Given the description of an element on the screen output the (x, y) to click on. 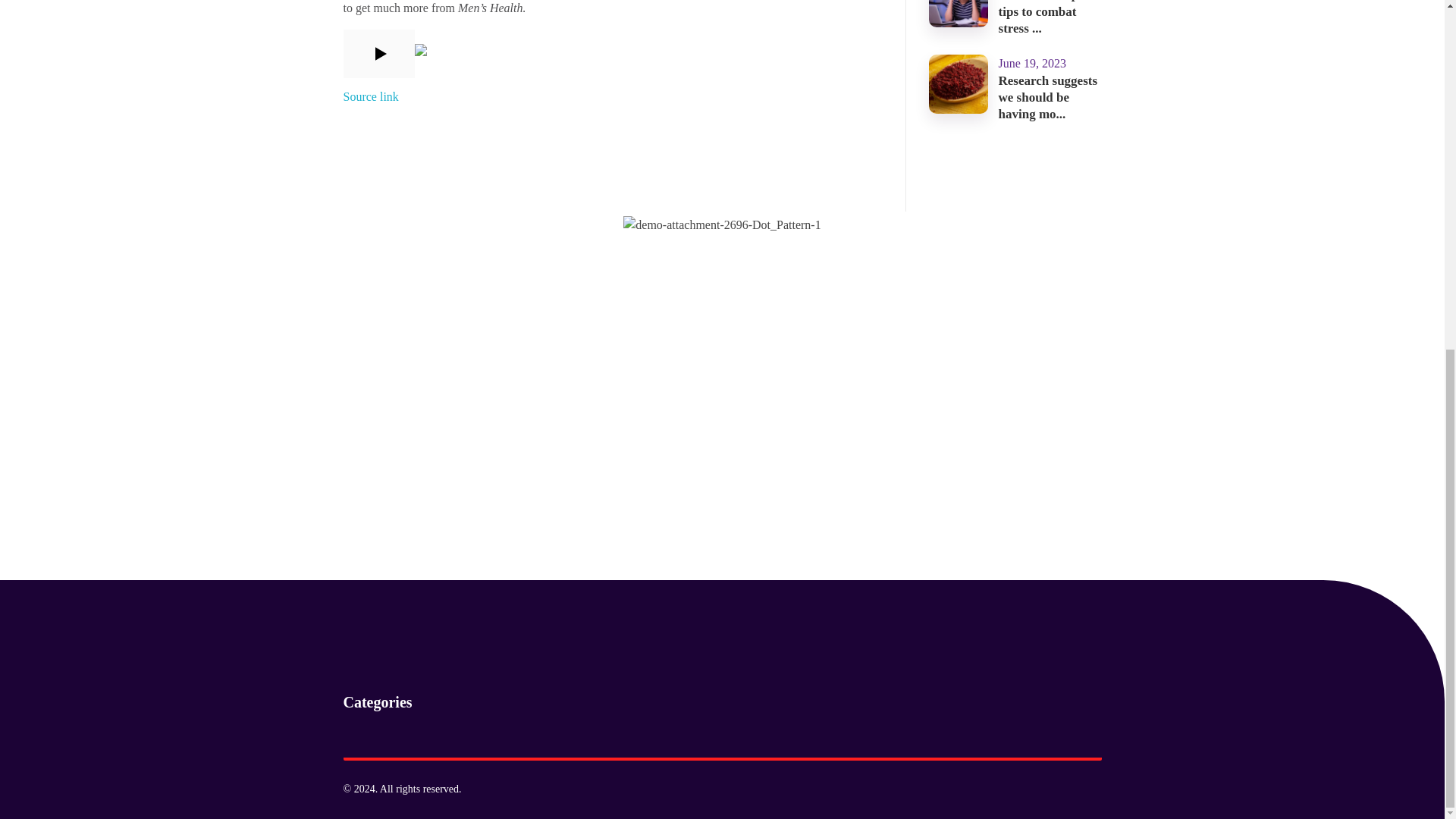
play iconThe triangle icon that indicates to play (378, 54)
Research suggests we should be having mo... (1047, 97)
Sign Me Up (534, 436)
Video player poster image (609, 53)
Here are 7 expert tips to combat stress ... (1046, 17)
Source link (369, 96)
Play (378, 54)
play iconThe triangle icon that indicates to play (377, 53)
